Given the description of an element on the screen output the (x, y) to click on. 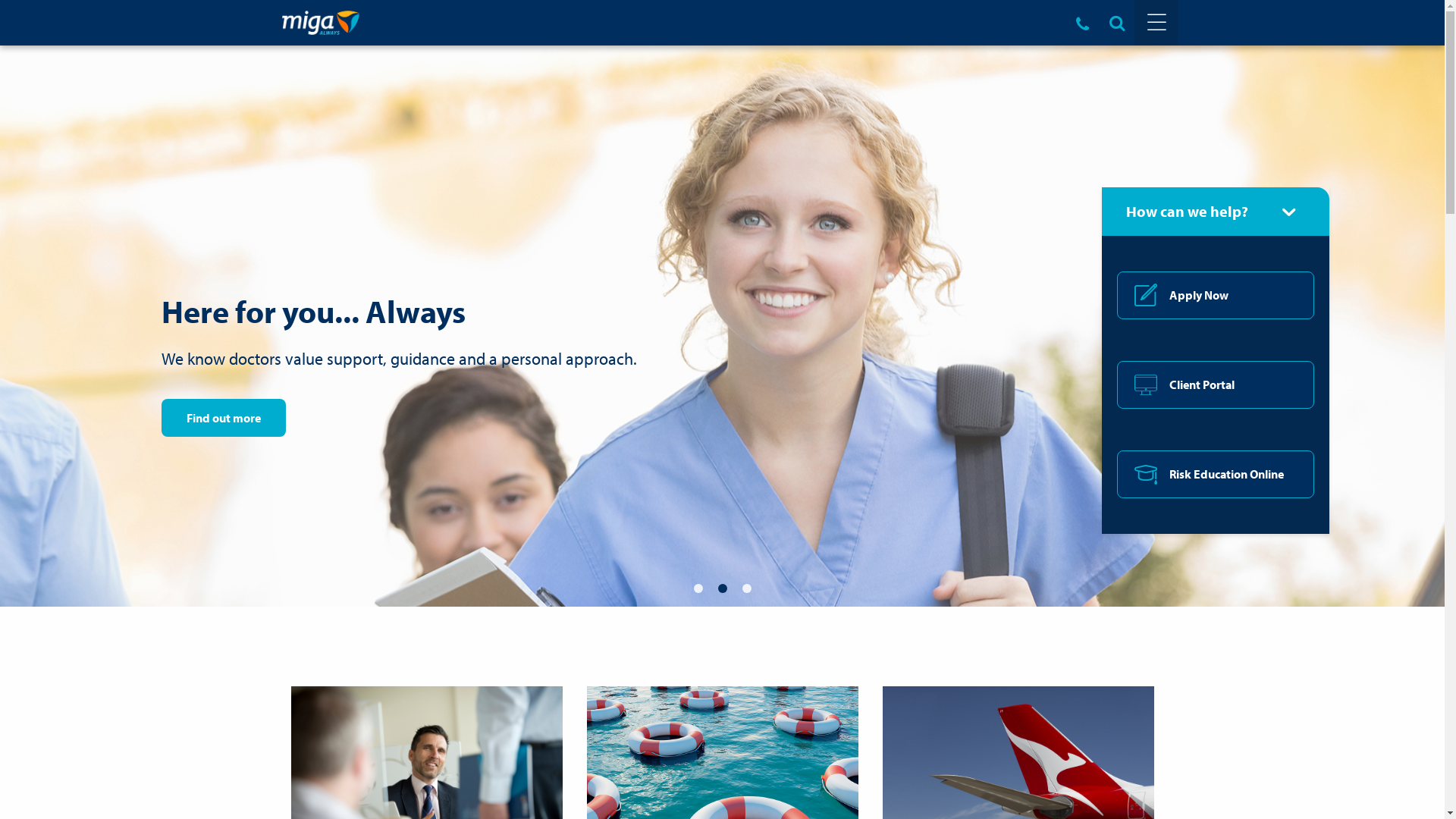
Find out more Element type: text (222, 417)
Client Portal Element type: text (1215, 384)
1 Element type: text (697, 588)
Apply Now Element type: text (1215, 295)
2 Element type: text (721, 588)
3 Element type: text (745, 588)
Risk Education Online Element type: text (1215, 474)
